Given the description of an element on the screen output the (x, y) to click on. 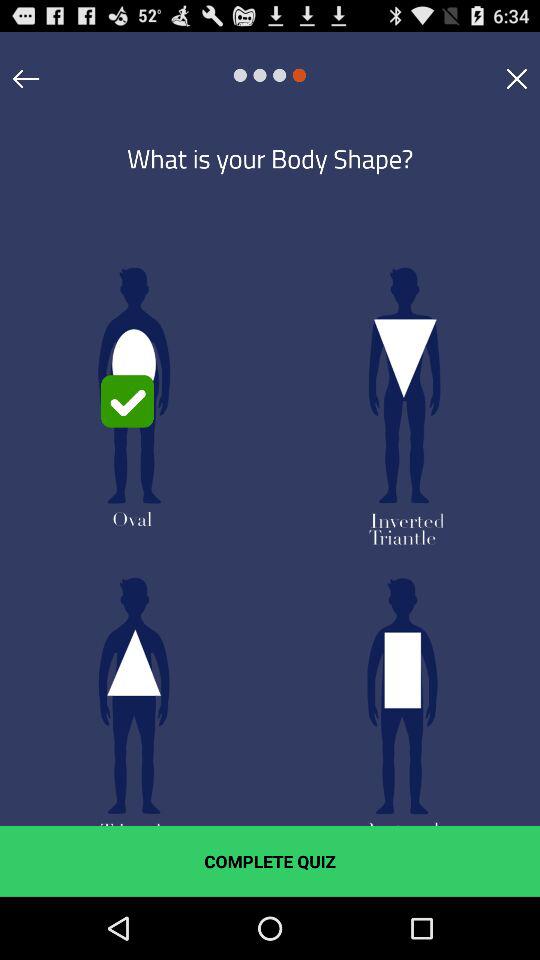
go back (26, 78)
